Given the description of an element on the screen output the (x, y) to click on. 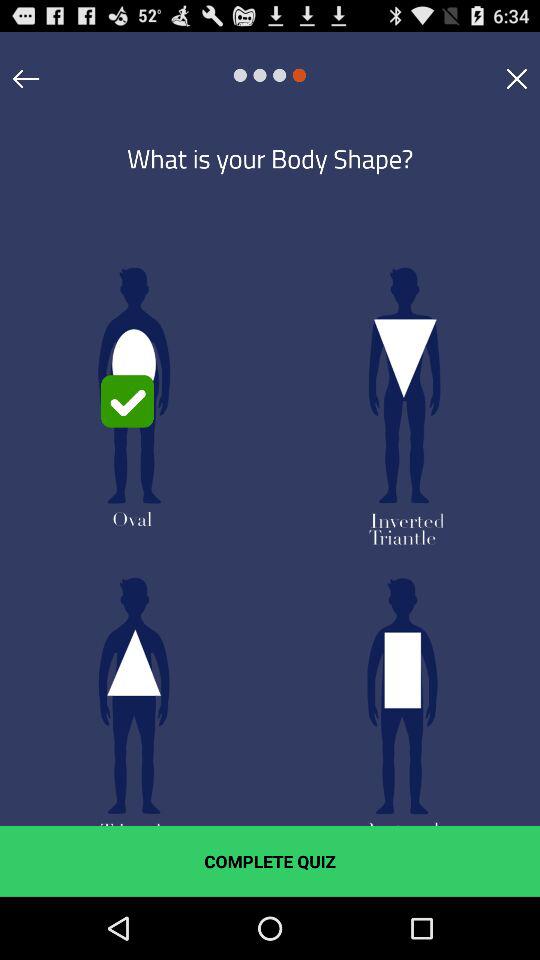
go back (26, 78)
